Given the description of an element on the screen output the (x, y) to click on. 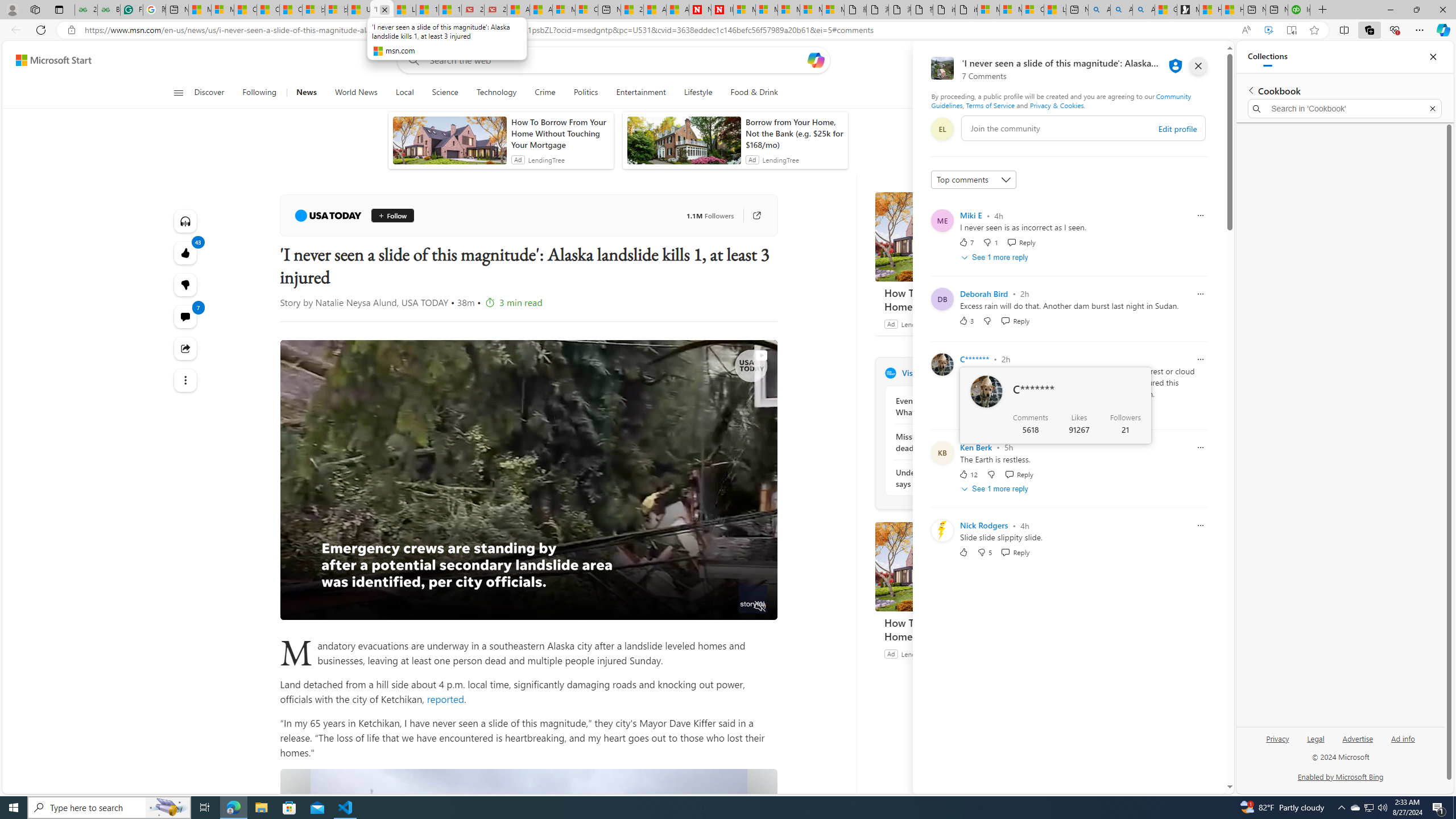
View comments 7 Comment (184, 316)
Follow (392, 215)
USA TODAY - MSN (359, 9)
View on Watch View on Watch (735, 355)
7 Like (965, 241)
USA TODAY (889, 372)
Back to list of collections (1250, 90)
Captions (716, 606)
